Given the description of an element on the screen output the (x, y) to click on. 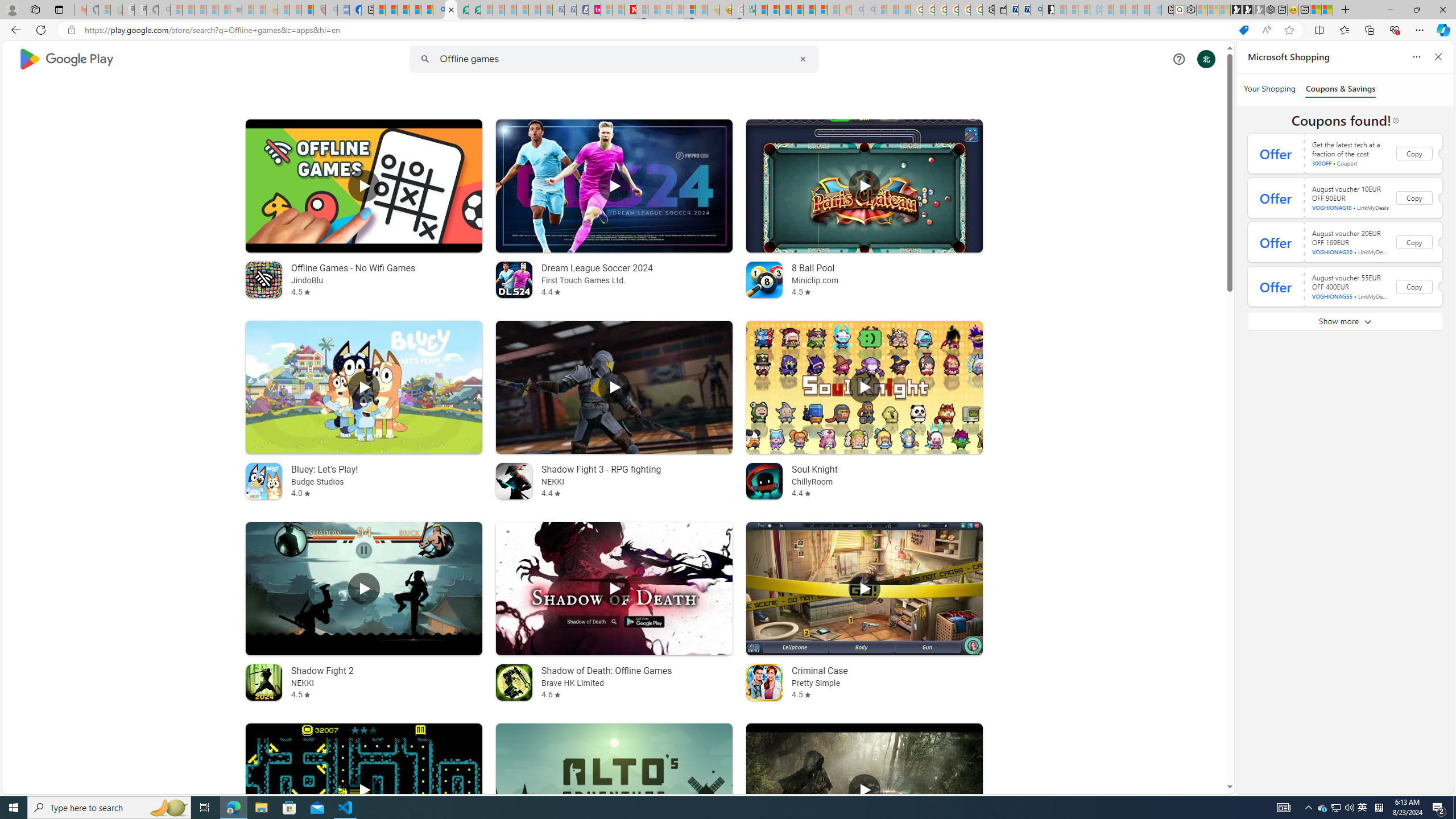
Split screen (1318, 29)
Play Shadow of Death: Offline Games (613, 588)
Nordace - Nordace Siena Is Not An Ordinary Backpack (1270, 9)
Personal Profile (12, 9)
Play Shadow Fight 3 - RPG fighting (613, 386)
MSNBC - MSN (761, 9)
Restore (1416, 9)
Wallet (1000, 9)
Play Cover Fire: Offline Shooting (864, 789)
